Given the description of an element on the screen output the (x, y) to click on. 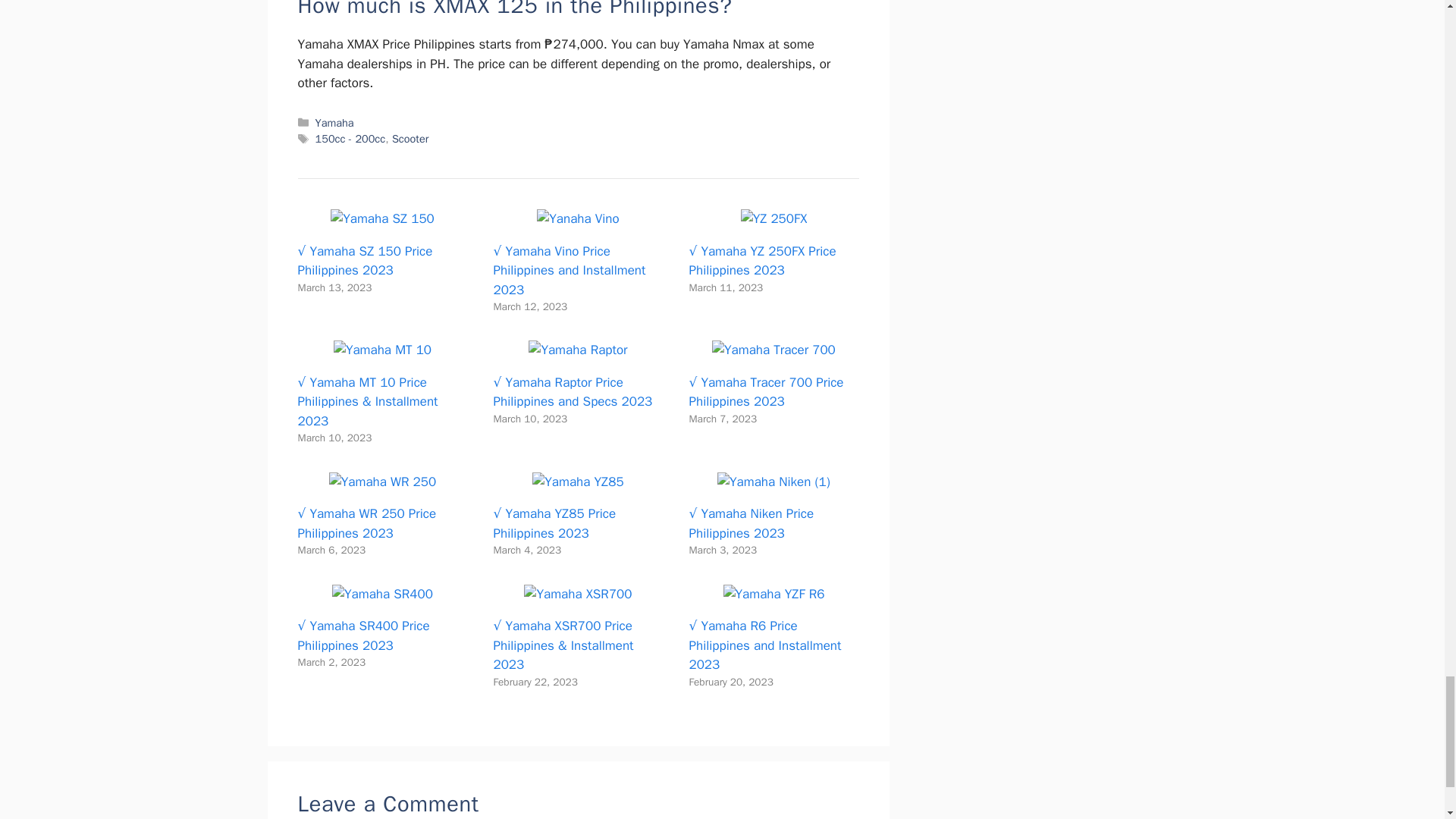
Scooter (409, 138)
150cc - 200cc (350, 138)
Yamaha (334, 122)
